Given the description of an element on the screen output the (x, y) to click on. 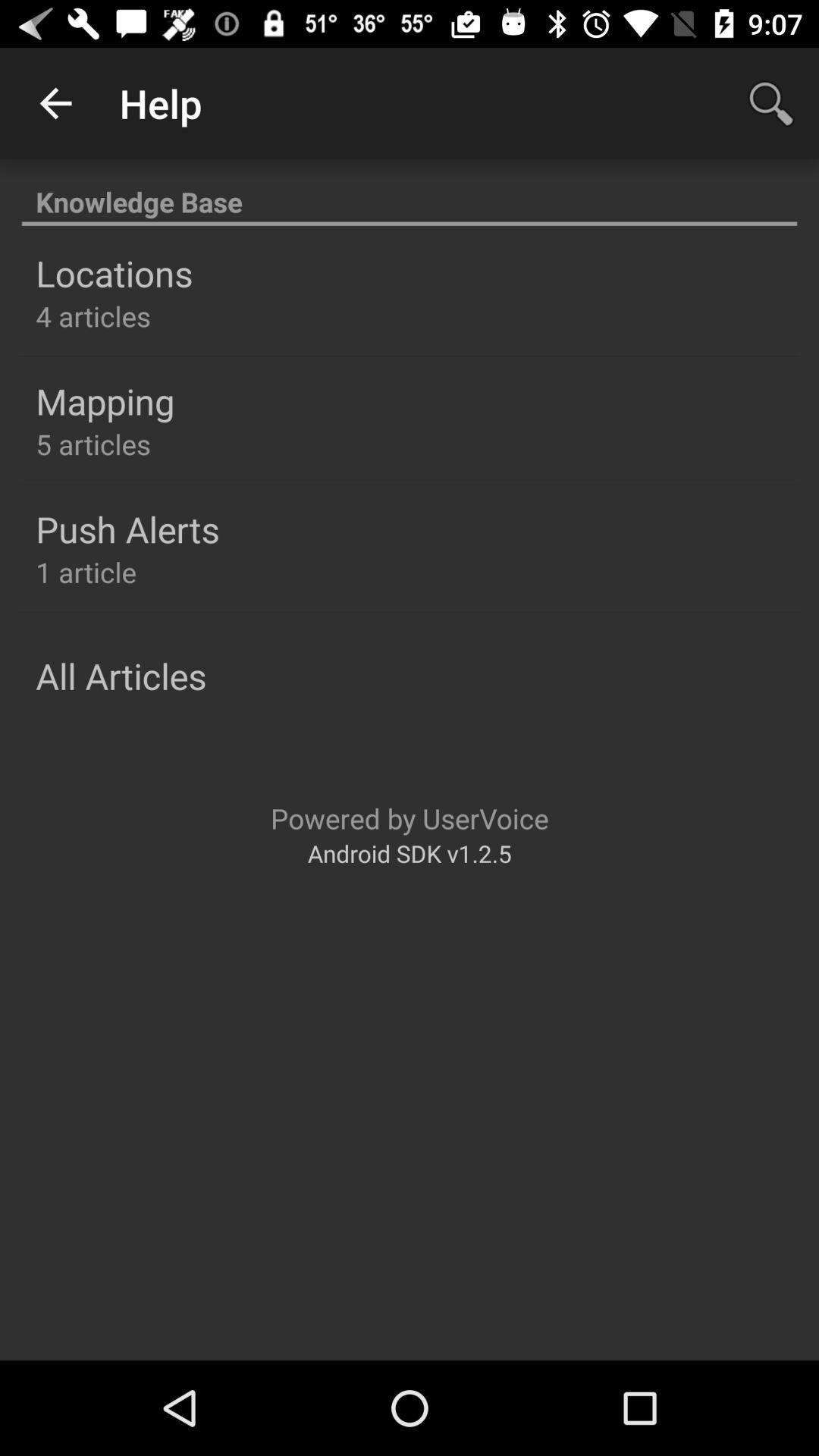
jump until knowledge base icon (409, 193)
